Given the description of an element on the screen output the (x, y) to click on. 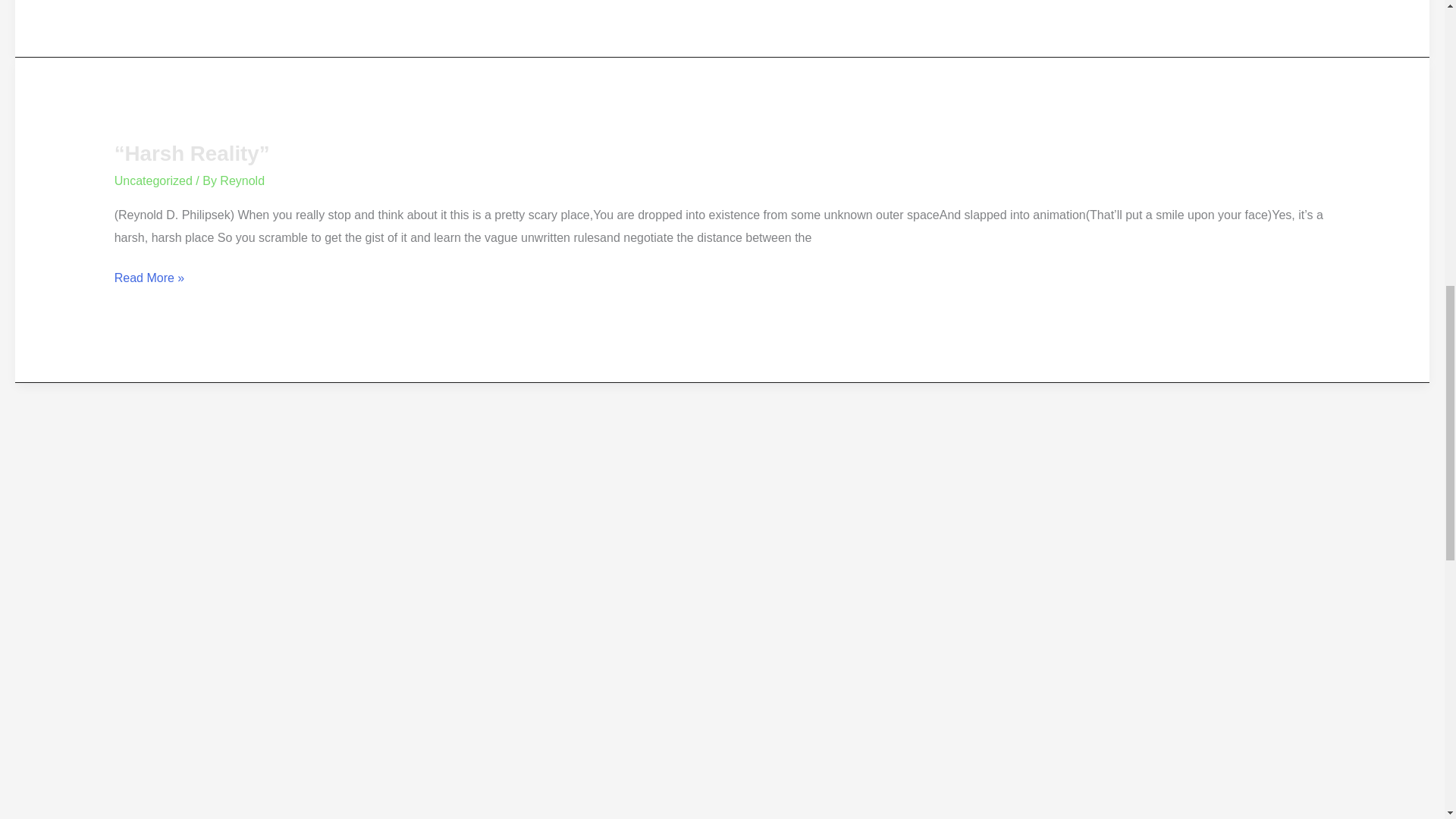
View all posts by Reynold (241, 180)
Reynold (241, 180)
Uncategorized (153, 180)
